Given the description of an element on the screen output the (x, y) to click on. 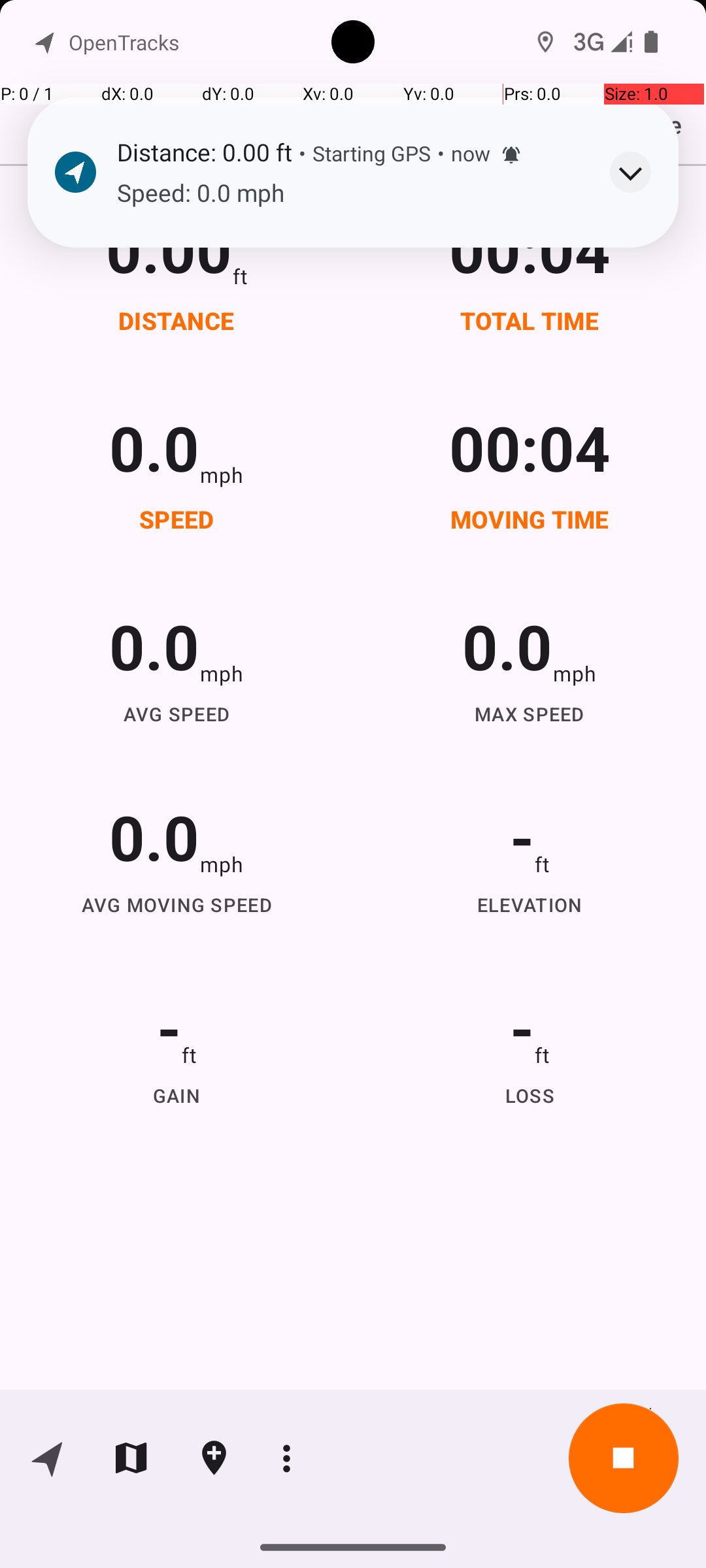
Insert marker Element type: android.widget.Button (213, 1458)
Stop Element type: android.widget.ImageButton (623, 1458)
0.00 Element type: android.widget.TextView (168, 248)
00:04 Element type: android.widget.TextView (529, 248)
0.0 Element type: android.widget.TextView (154, 446)
mph Element type: android.widget.TextView (221, 474)
SPEED Element type: android.widget.TextView (176, 518)
AVG SPEED Element type: android.widget.TextView (176, 713)
MAX SPEED Element type: android.widget.TextView (529, 713)
AVG MOVING SPEED Element type: android.widget.TextView (176, 904)
- Element type: android.widget.TextView (521, 836)
ELEVATION Element type: android.widget.TextView (529, 904)
Off Element type: android.widget.Switch (518, 46)
Bright Lights by Isla is playing from Retro Music Element type: android.view.ViewGroup (352, 245)
This phone Element type: android.widget.LinearLayout (584, 128)
Bright Lights Element type: android.widget.TextView (131, 241)
Isla Element type: android.widget.TextView (73, 276)
Play Element type: android.widget.ImageButton (609, 252)
Previous track Element type: android.widget.ImageButton (68, 361)
00:00 of 04:03 Element type: android.widget.SeekBar (270, 361)
Next track Element type: android.widget.ImageButton (472, 361)
Cycle repeat mode Element type: android.widget.ImageButton (554, 361)
Toggle shuffle mode Element type: android.widget.ImageButton (637, 361)
Speed: 0.0 mph Element type: android.widget.TextView (349, 192)
Expand Element type: android.widget.Button (630, 172)
Media device Element type: android.widget.LinearLayout (571, 135)
Distance: 0.00 ft Element type: android.widget.TextView (204, 151)
• Element type: android.widget.TextView (301, 153)
Starting GPS Element type: android.widget.TextView (371, 153)
now Element type: android.widget.TextView (470, 153)
Alerted Element type: android.widget.ImageView (510, 154)
